Given the description of an element on the screen output the (x, y) to click on. 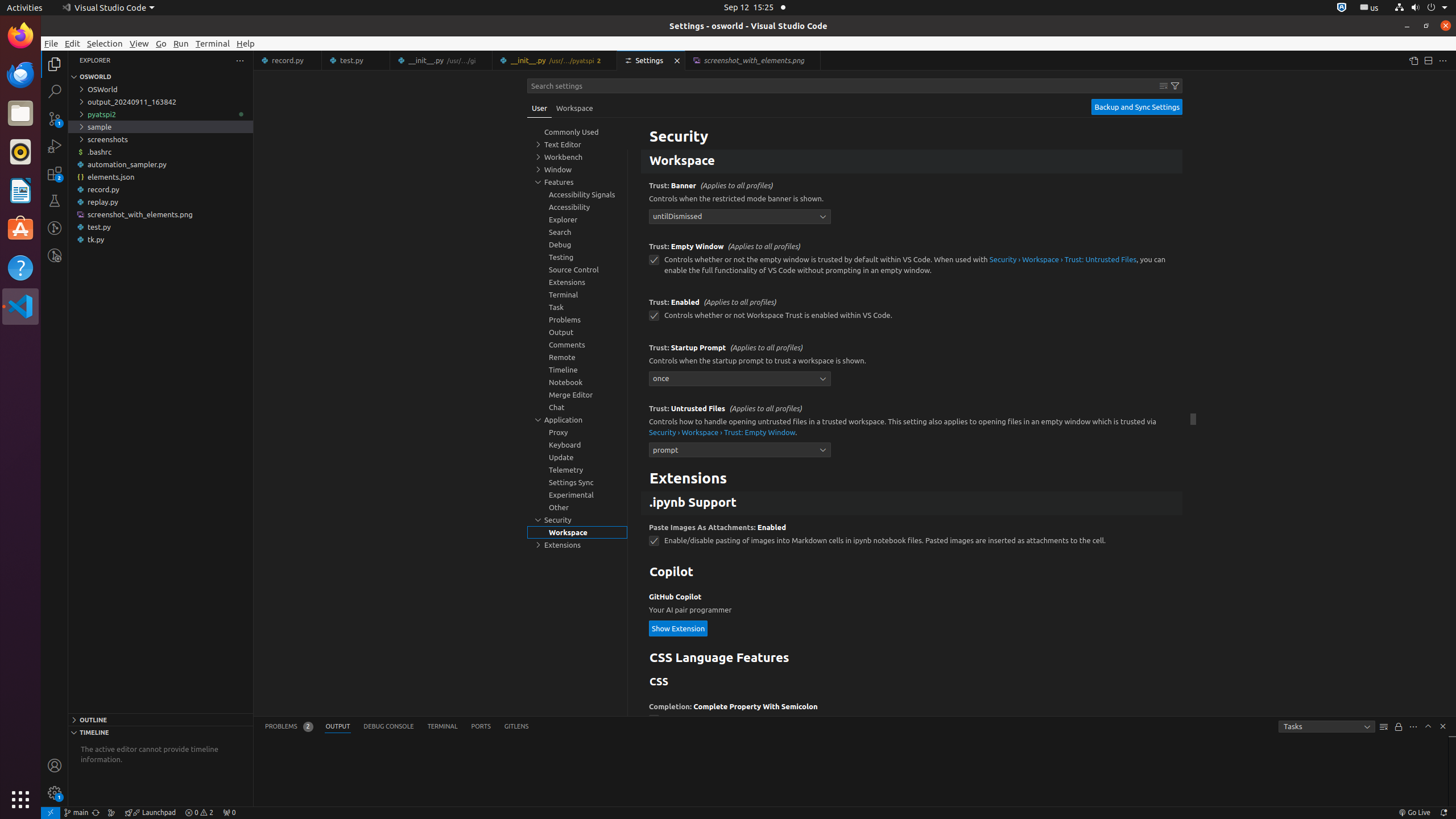
Views and More Actions... Element type: push-button (1413, 726)
Testing Element type: page-tab (54, 200)
Testing, group Element type: tree-item (577, 256)
Maximize Panel Size Element type: check-box (1427, 726)
Remote, group Element type: tree-item (577, 356)
